Given the description of an element on the screen output the (x, y) to click on. 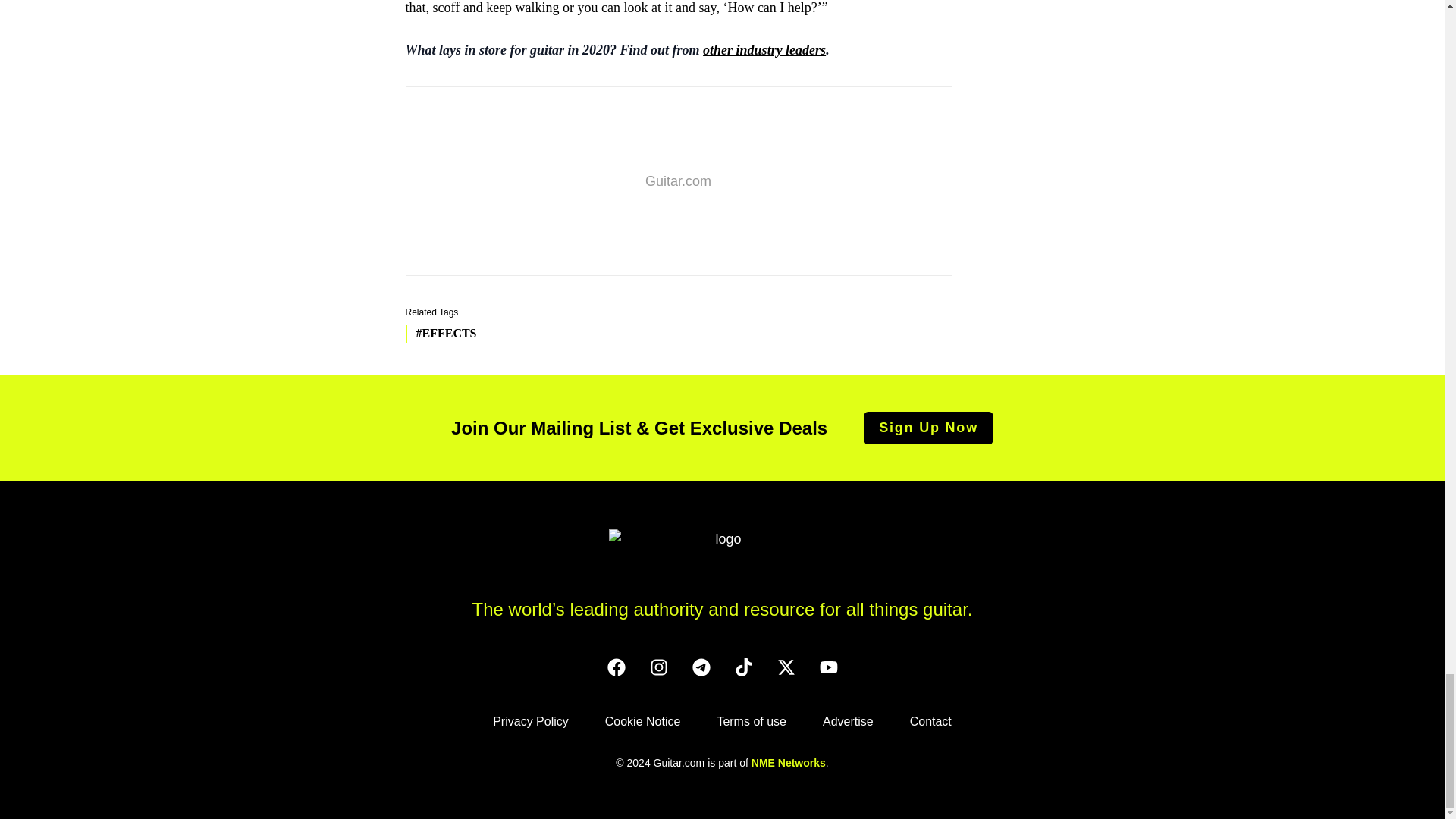
other industry leaders (764, 49)
Sign Up Now (927, 427)
Effects (440, 333)
